Given the description of an element on the screen output the (x, y) to click on. 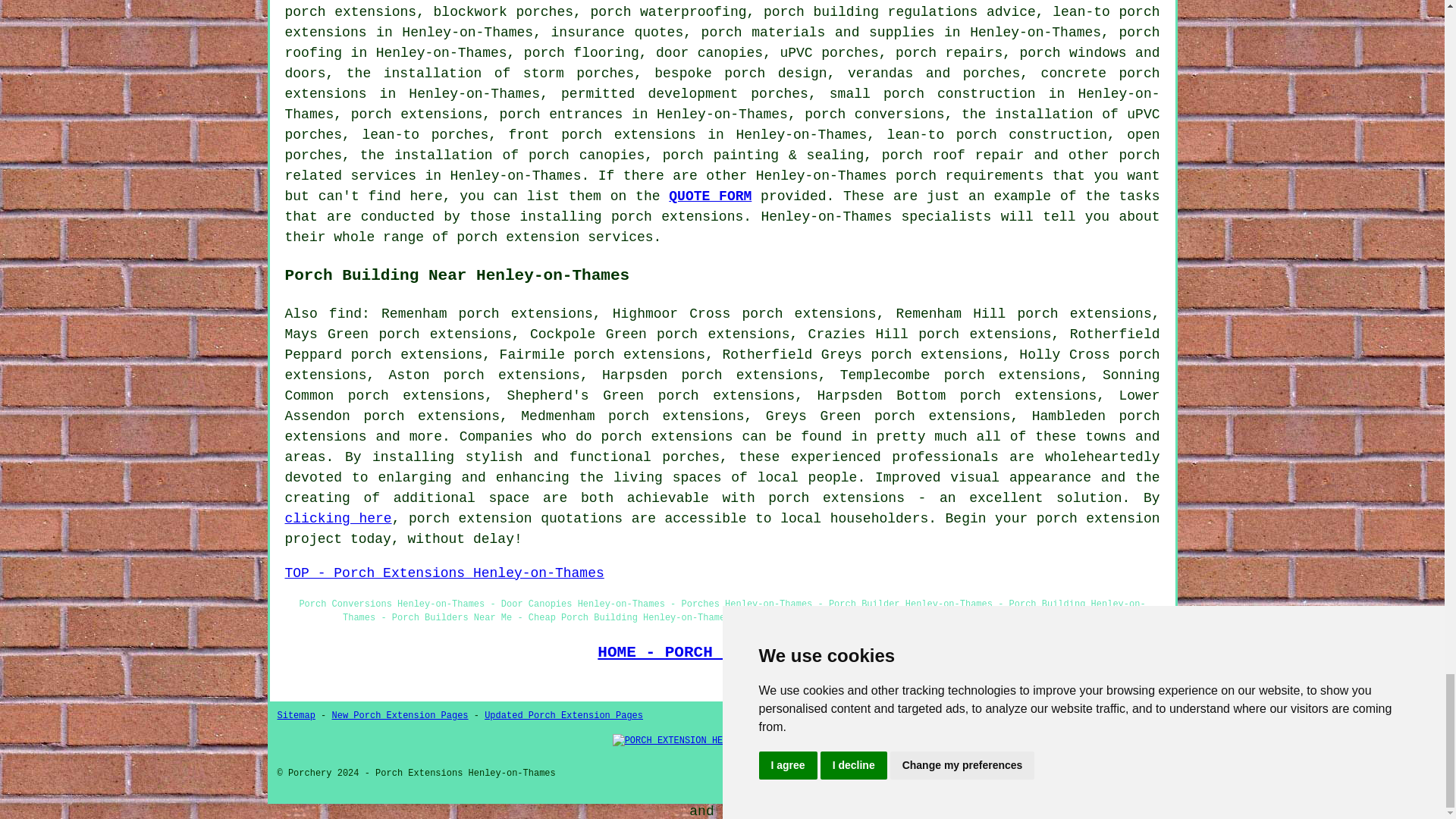
lean-to porches (424, 134)
porch conversions (874, 114)
